Given the description of an element on the screen output the (x, y) to click on. 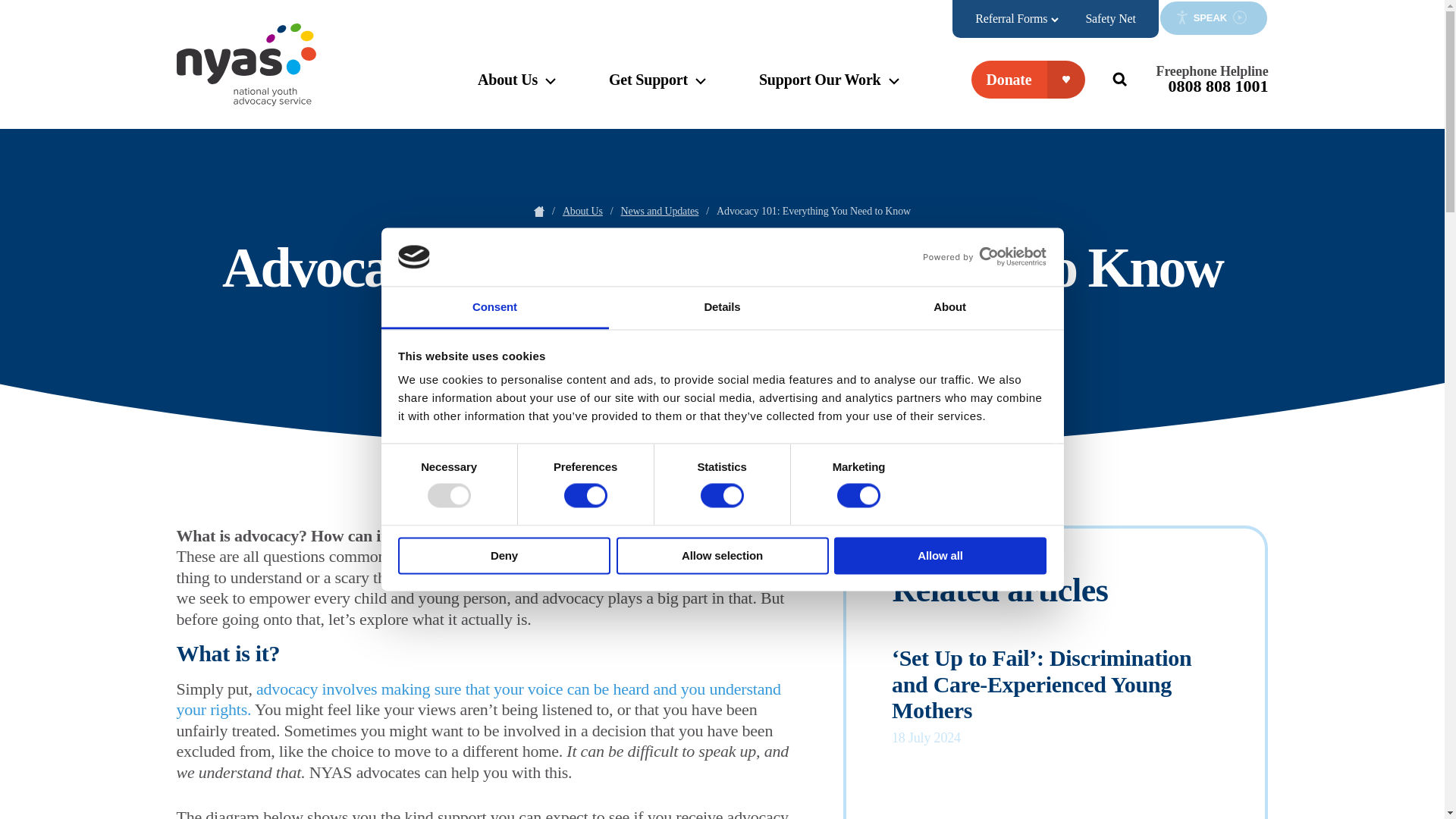
Consent (494, 307)
NYAS link, back to home (245, 64)
Referral Forms (1016, 18)
Allow selection (721, 555)
Listen with the ReachDeck Toolbar (1213, 18)
About Us (516, 94)
About (948, 307)
Deny (503, 555)
Details (721, 307)
Get Support (657, 94)
